Given the description of an element on the screen output the (x, y) to click on. 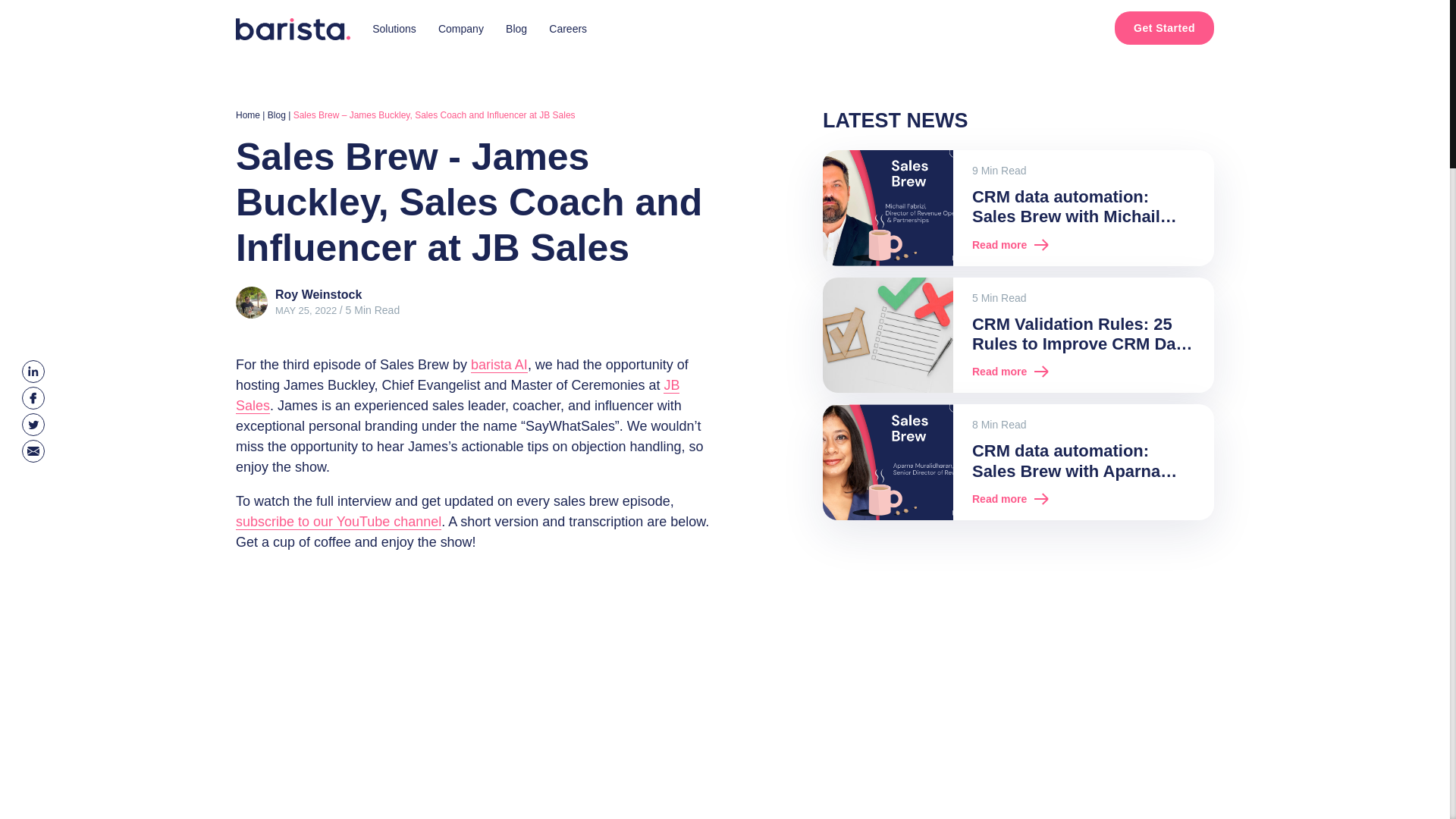
Home (247, 115)
Get Started (1164, 28)
Company (460, 28)
barista (292, 29)
barista AI (498, 365)
subscribe to our YouTube channel (338, 521)
Careers (567, 28)
Sales Brew: James Buckley, JB Sales - full interview (424, 672)
Blog (516, 28)
Blog (276, 115)
JB Sales (457, 395)
Solutions (394, 28)
